Given the description of an element on the screen output the (x, y) to click on. 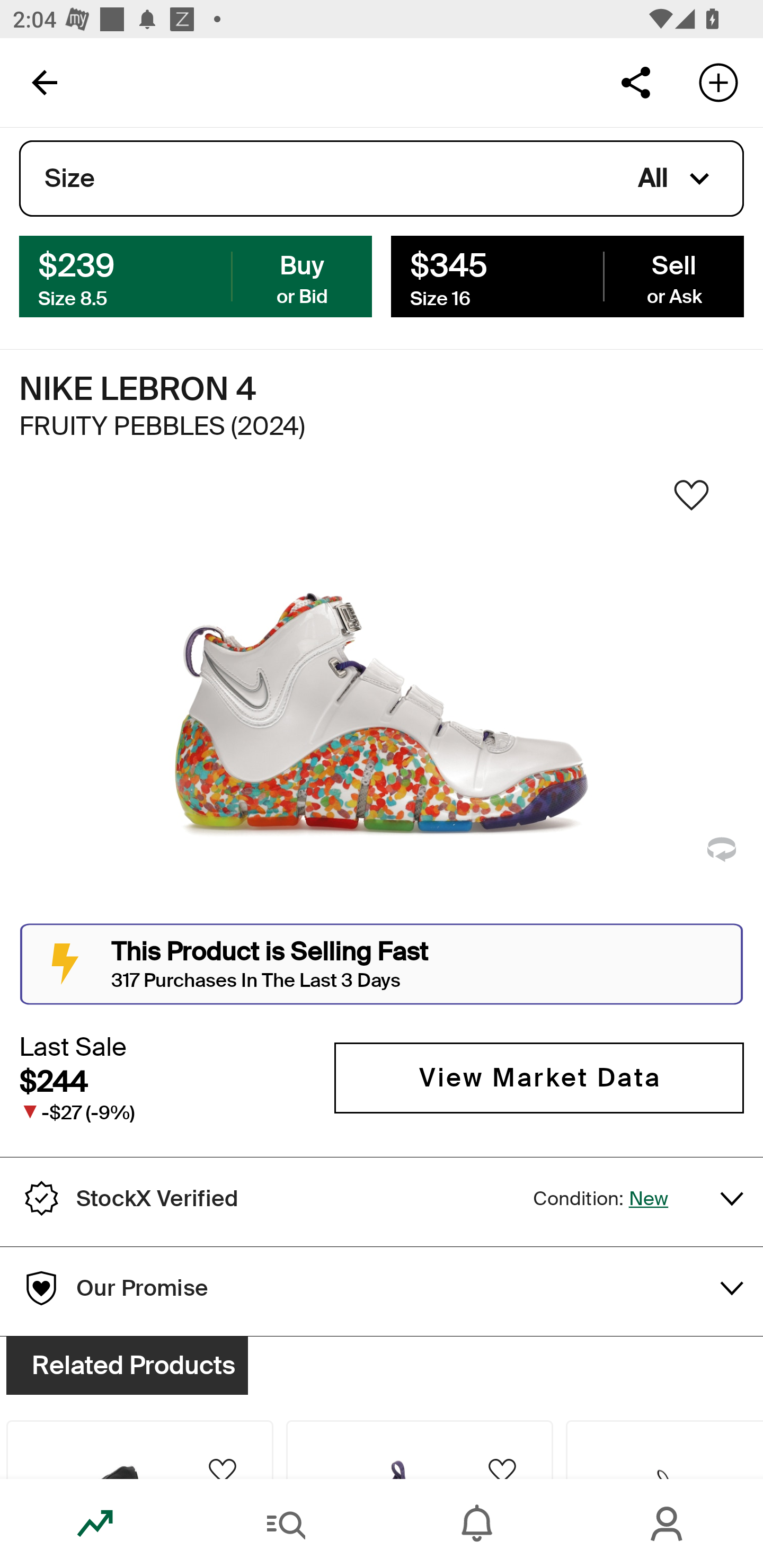
Share (635, 81)
Add (718, 81)
Size All (381, 178)
$239 Buy Size 8.5 or Bid (195, 275)
$345 Sell Size 16 or Ask (566, 275)
Sneaker Image (381, 699)
View Market Data (538, 1077)
Search (285, 1523)
Inbox (476, 1523)
Account (667, 1523)
